Given the description of an element on the screen output the (x, y) to click on. 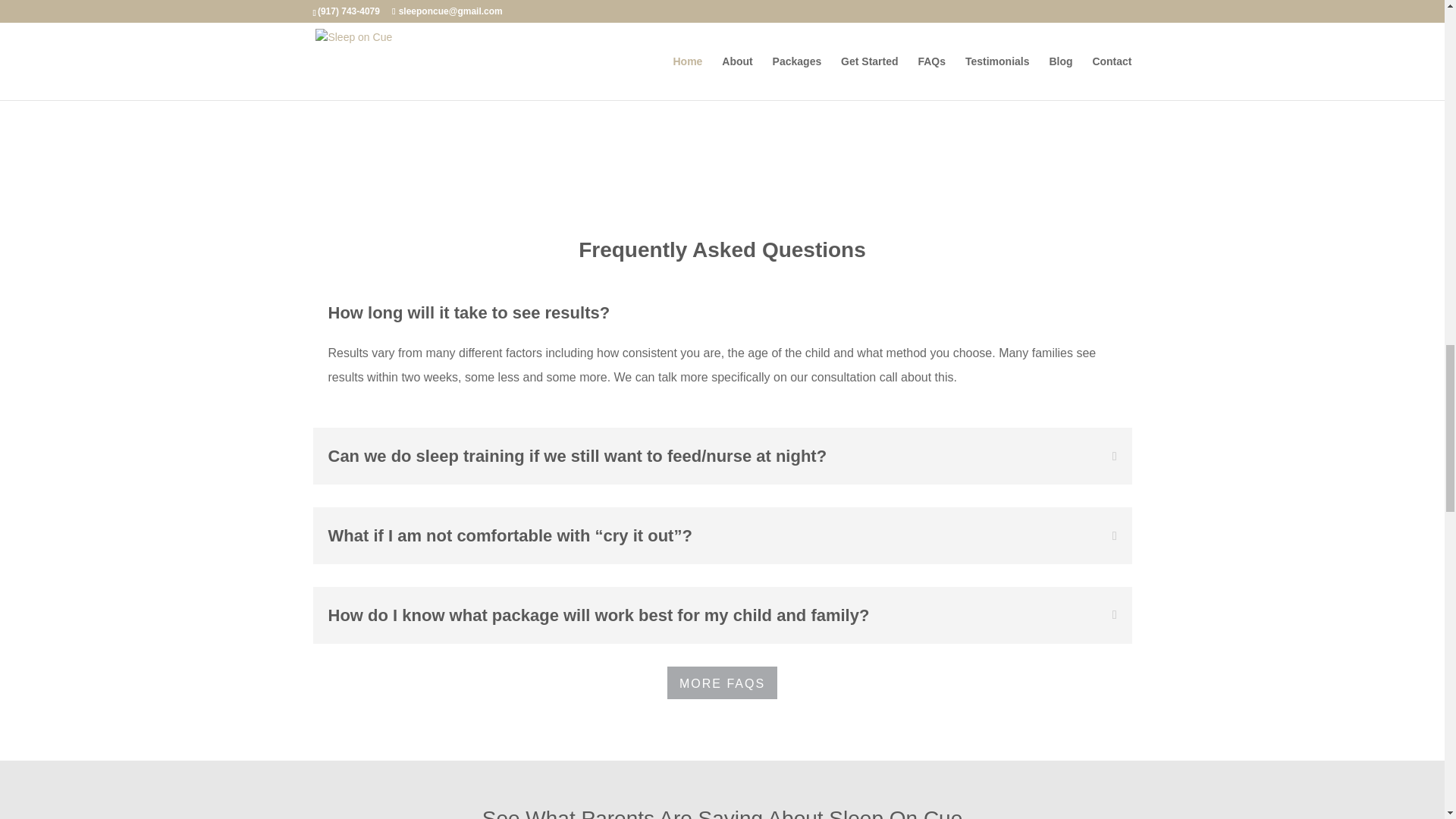
MORE FAQS (721, 682)
